Given the description of an element on the screen output the (x, y) to click on. 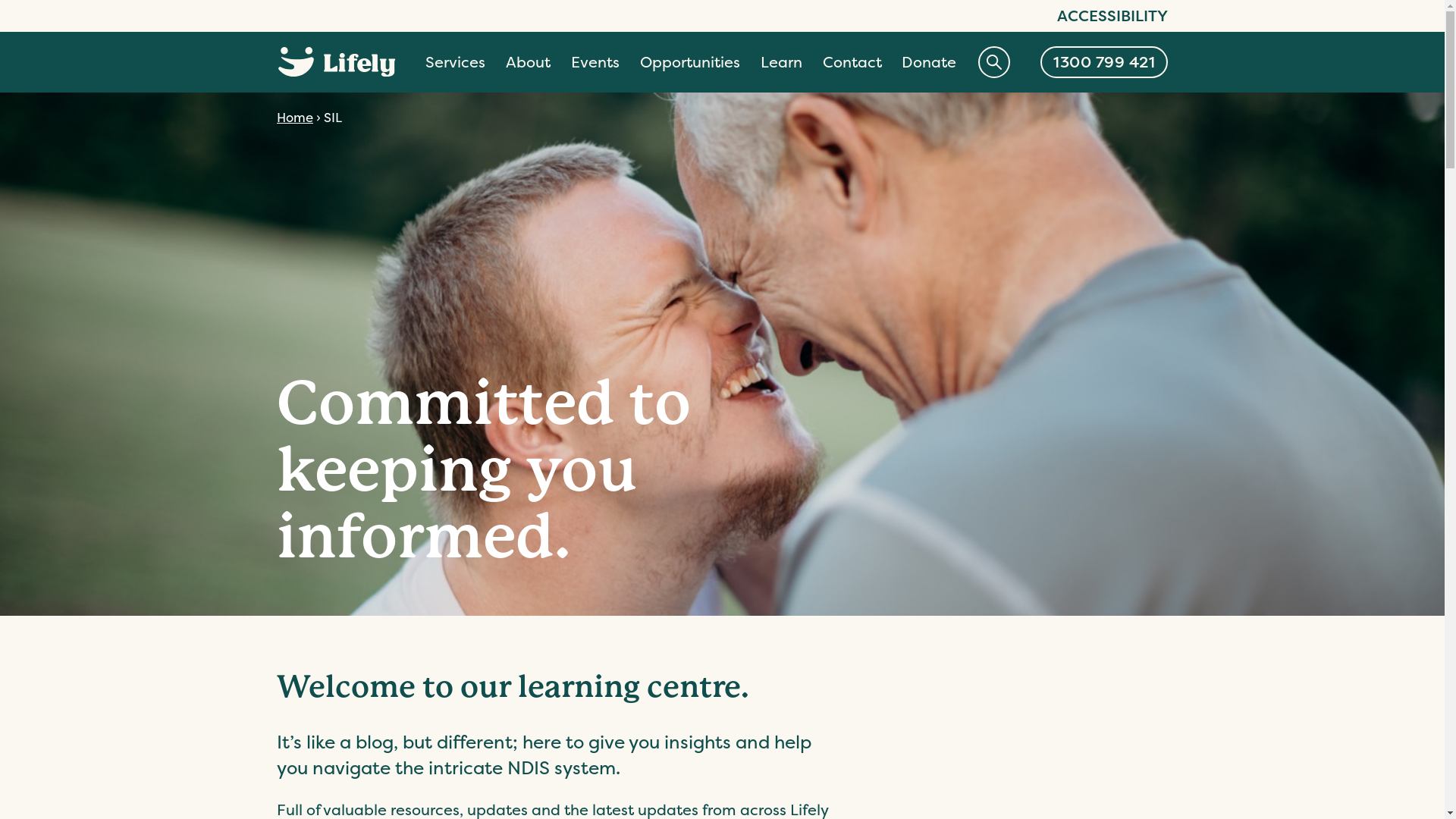
Learn Element type: text (781, 63)
Contact Element type: text (851, 63)
About Element type: text (527, 63)
ACCESSIBILITY Element type: text (1112, 15)
Donate Element type: text (928, 63)
1300 799 421 Element type: text (1103, 62)
Opportunities Element type: text (690, 63)
Toggle search form Element type: hover (994, 62)
Events Element type: text (595, 63)
Go to home page Element type: hover (336, 62)
Home Element type: text (294, 116)
Services Element type: text (455, 63)
